Given the description of an element on the screen output the (x, y) to click on. 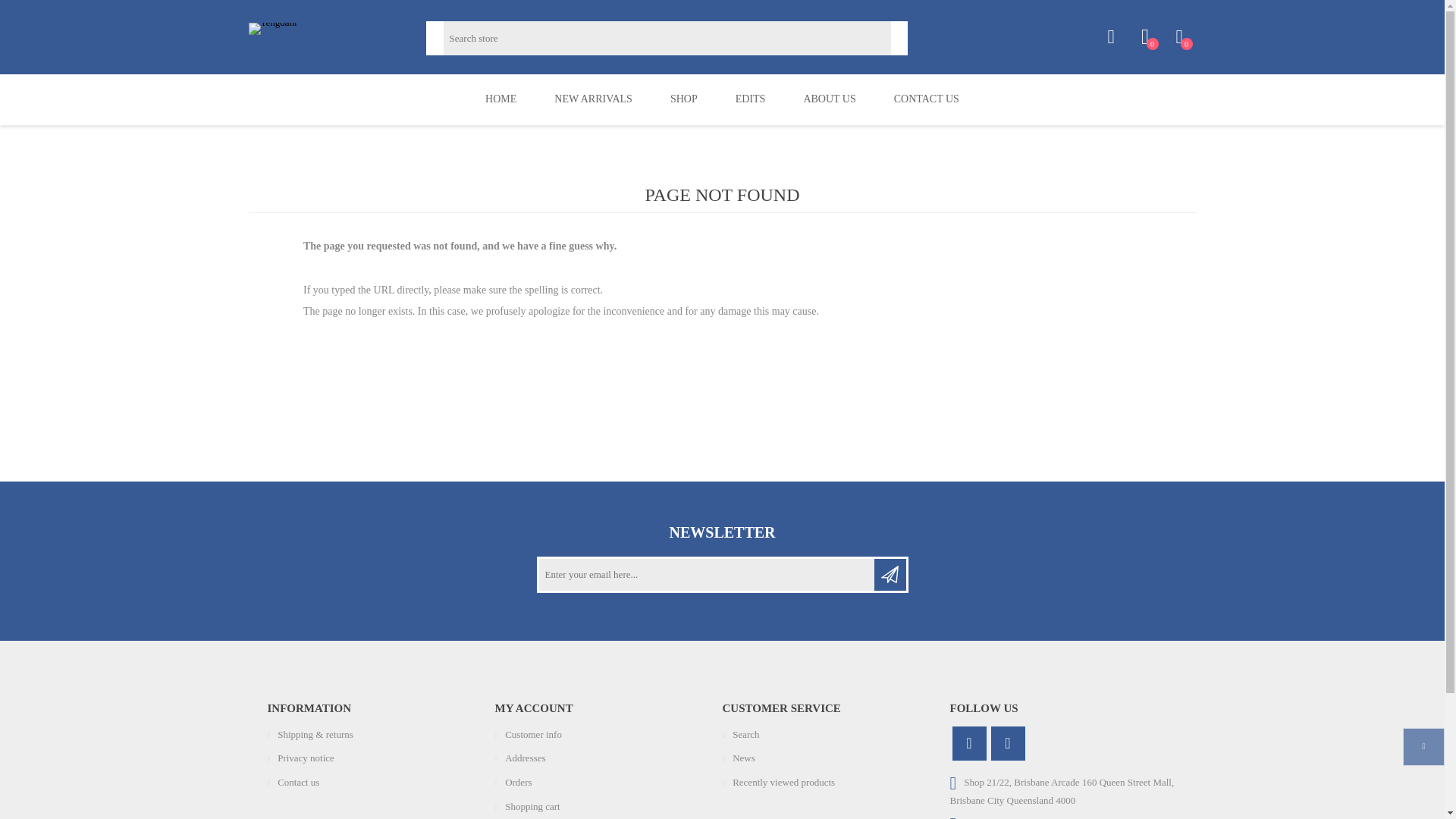
Shopping cart (532, 806)
Shopping cart (1178, 37)
Recently viewed products (783, 781)
EDITS (750, 99)
ABOUT US (829, 99)
SHOP (683, 99)
CONTACT US (926, 99)
Addresses (524, 757)
News (743, 757)
Customer info (533, 734)
